Given the description of an element on the screen output the (x, y) to click on. 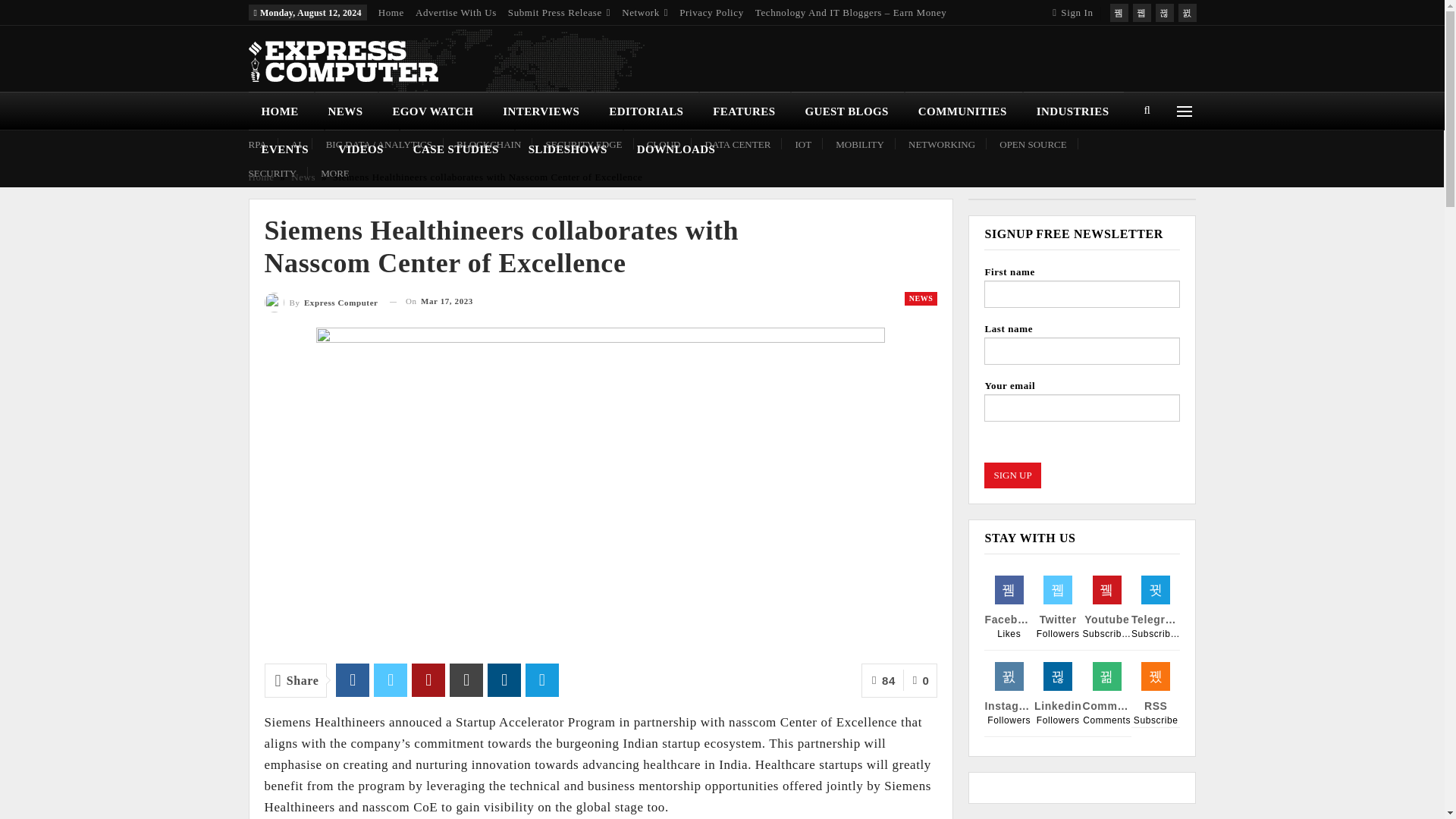
OPEN SOURCE (1032, 143)
BLOCKCHAIN (489, 143)
Submit Press Release (559, 12)
Advertise With Us (455, 12)
SECURITY (272, 172)
CLOUD (663, 143)
AI (296, 143)
Home (391, 12)
NETWORKING (941, 143)
MORE (334, 172)
